Given the description of an element on the screen output the (x, y) to click on. 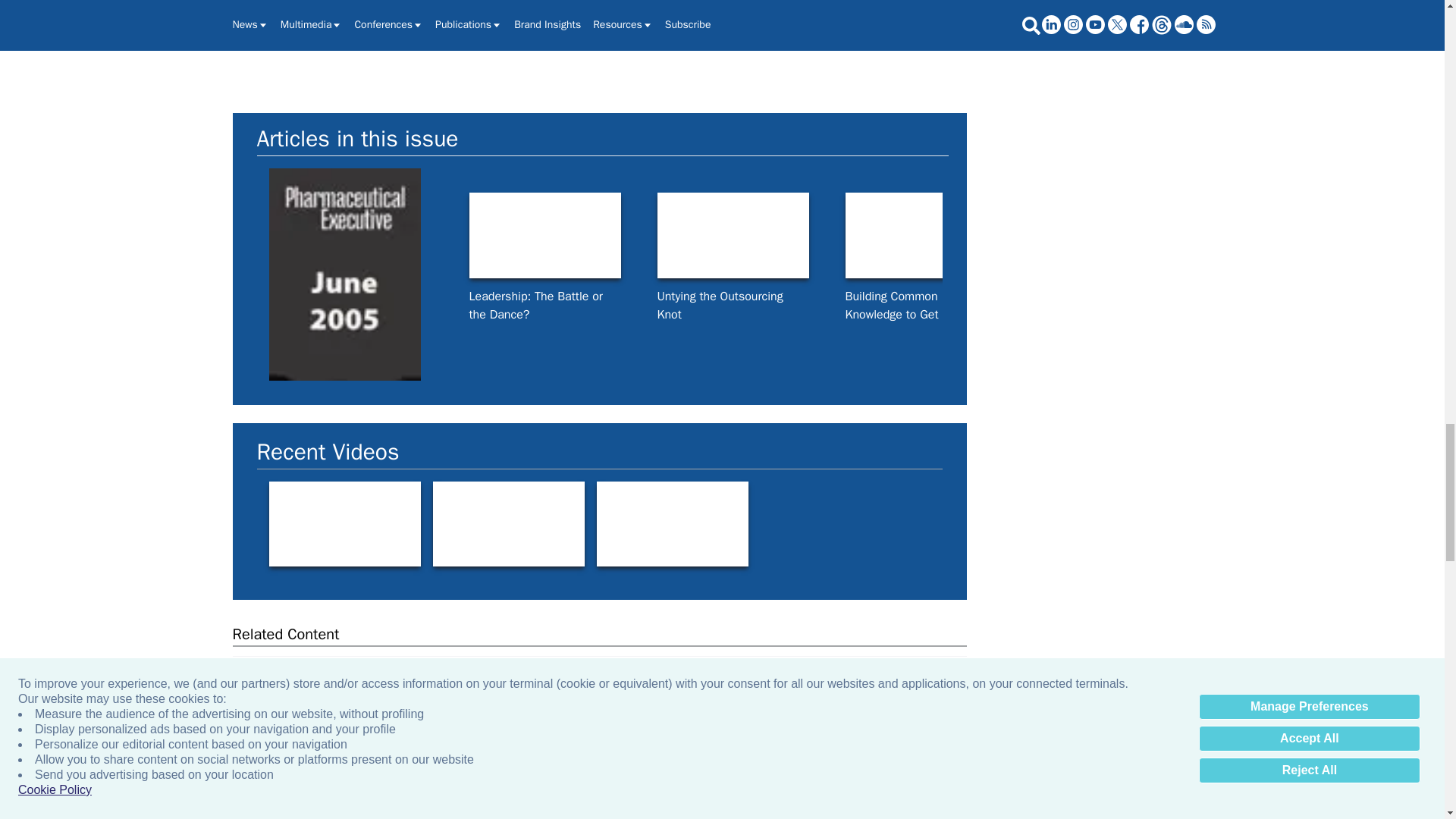
i1-175976-1408685718346.jpg (544, 235)
i1-170719-1408680939779.jpg (732, 235)
i3-170721-1408680933988.gif (1297, 235)
i2-170725-1408680925376.gif (919, 235)
i1-170724-1408680927352.jpg (1108, 235)
